Given the description of an element on the screen output the (x, y) to click on. 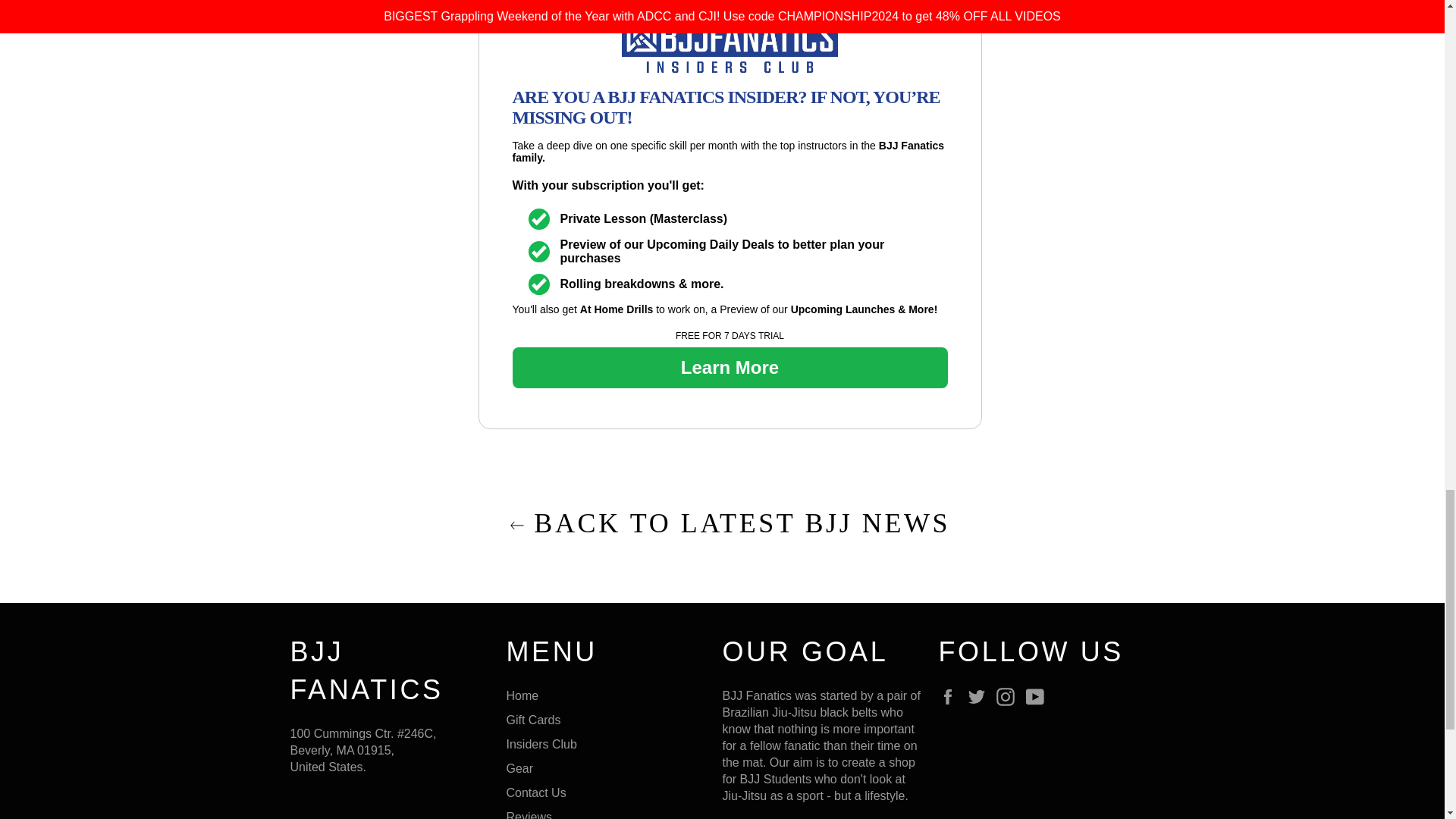
BJJ Fanatics on Instagram (1008, 696)
BJJ Fanatics on YouTube (1038, 696)
BJJ Fanatics on Facebook (951, 696)
BJJ Fanatics on Twitter (980, 696)
